Given the description of an element on the screen output the (x, y) to click on. 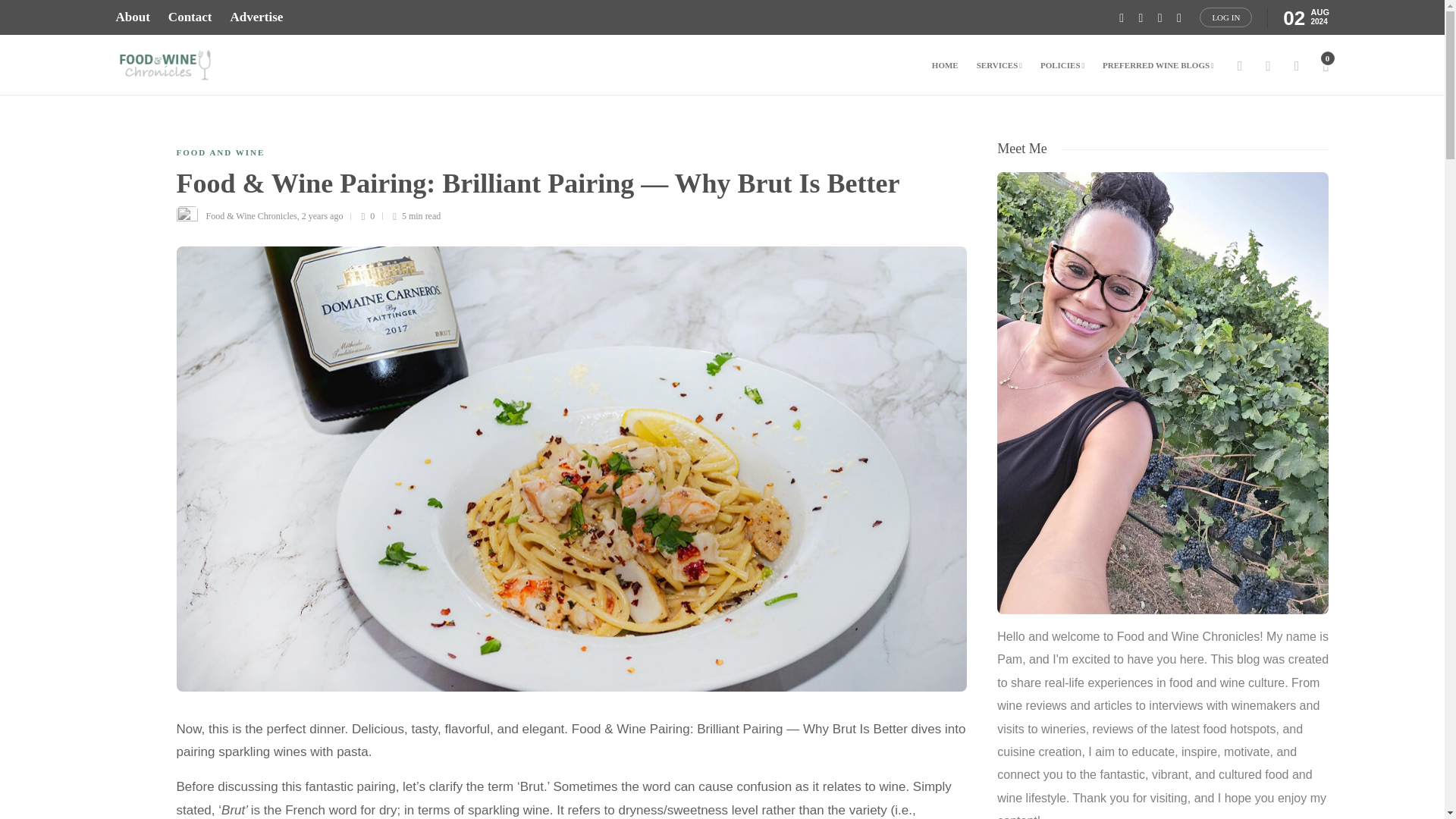
Contact (190, 17)
Advertise (256, 17)
LOG IN (1225, 17)
About (132, 17)
Contact (190, 17)
